Given the description of an element on the screen output the (x, y) to click on. 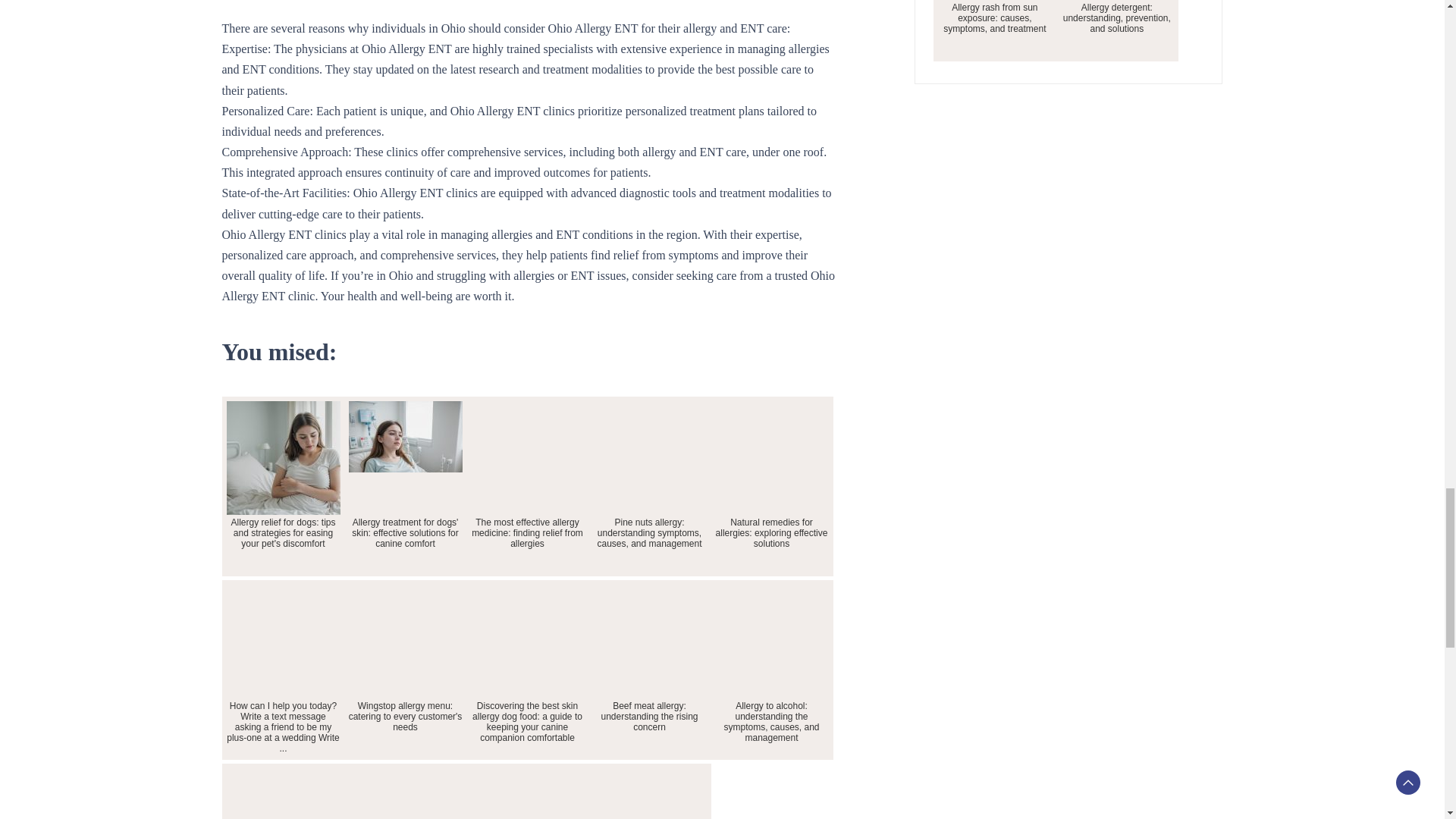
Allergy near me: understanding, managing, and seeking help (405, 791)
Allergy sore throat: causes, symptoms, and treatment (282, 791)
